Given the description of an element on the screen output the (x, y) to click on. 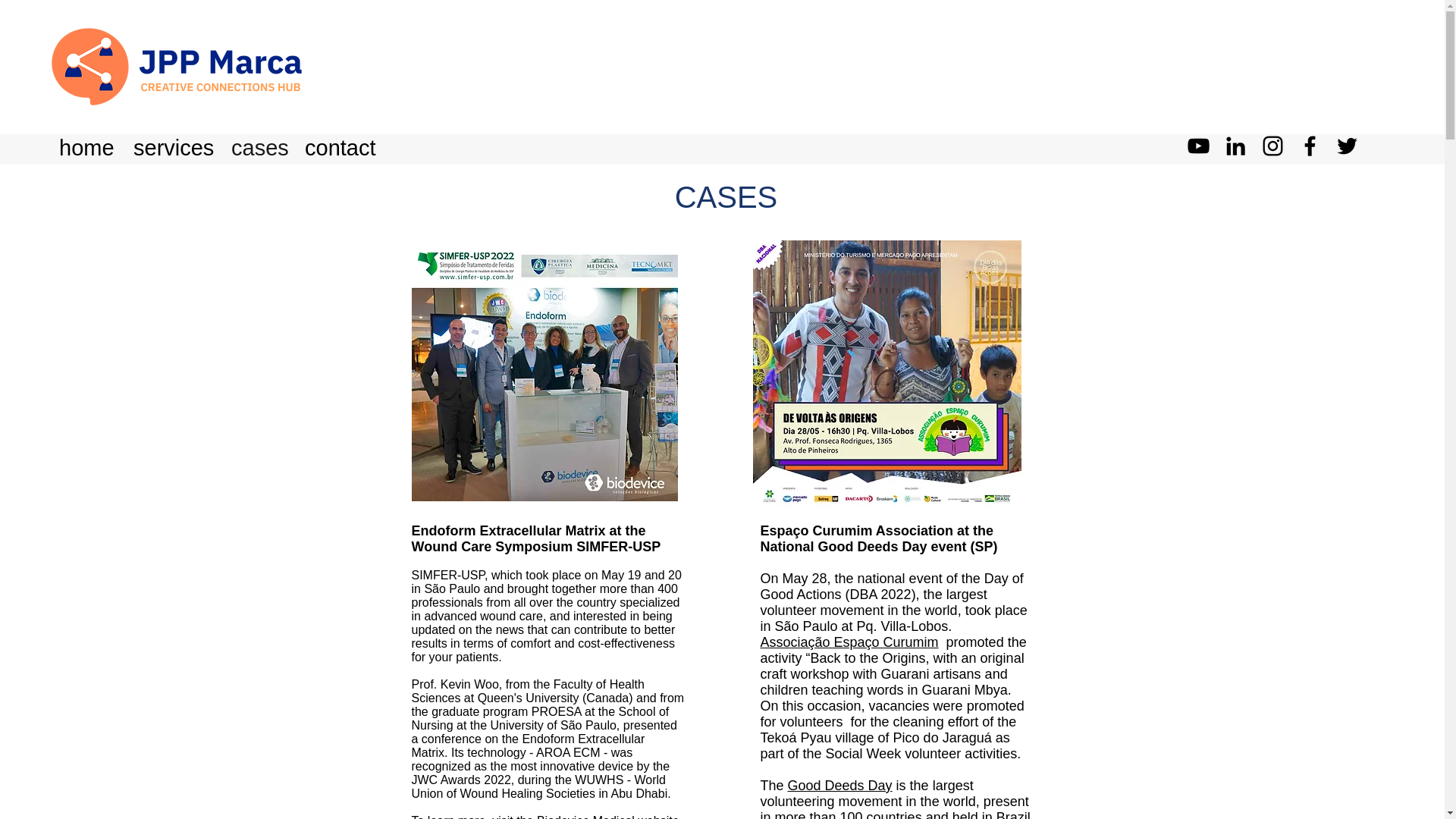
cases (260, 145)
services (174, 145)
home (87, 145)
Biodevice Medical (585, 816)
Good Deeds Day (839, 785)
contact (343, 145)
